Given the description of an element on the screen output the (x, y) to click on. 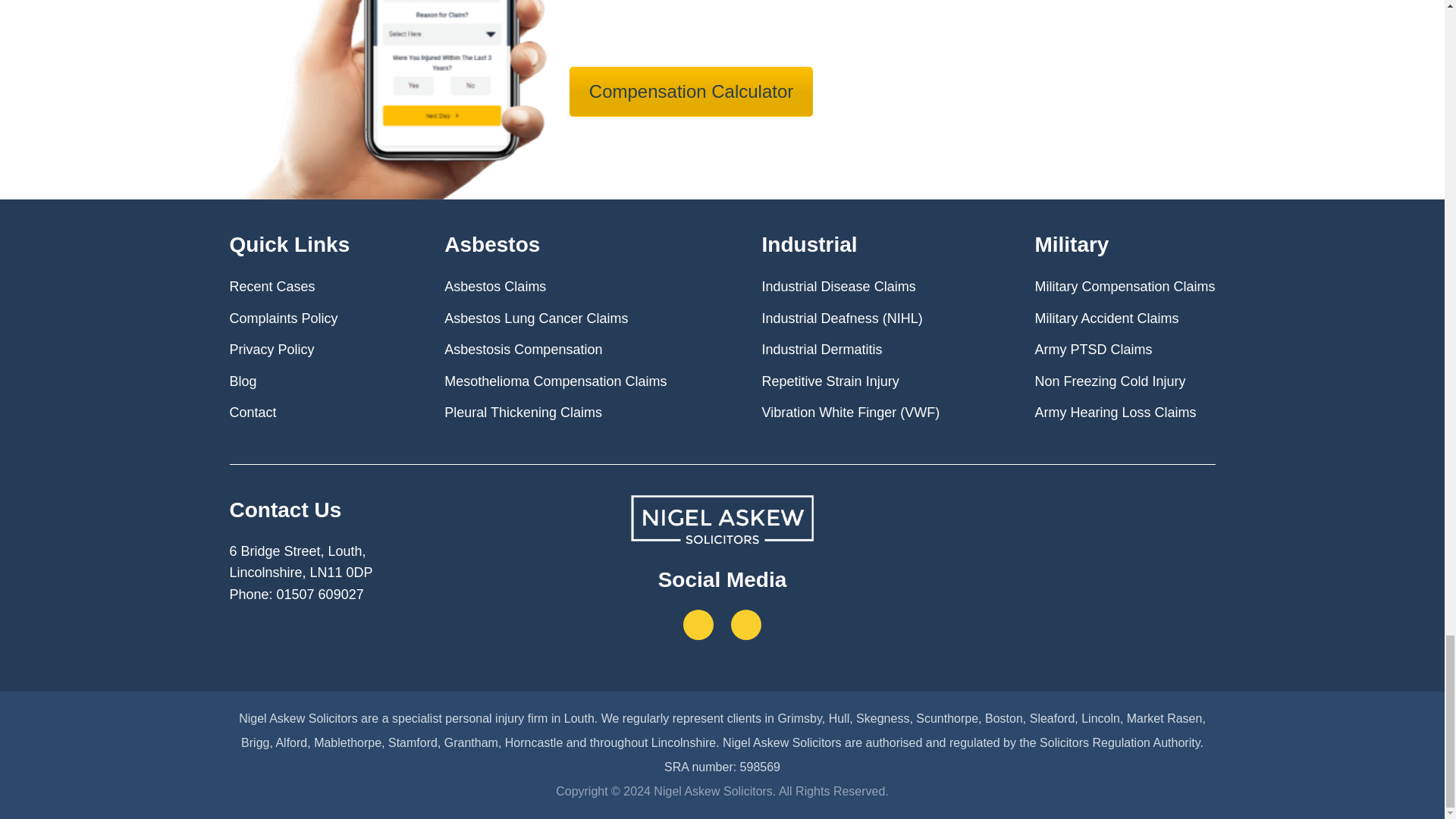
left-hand (394, 99)
Personal Injury Claims Calculator (690, 91)
